Given the description of an element on the screen output the (x, y) to click on. 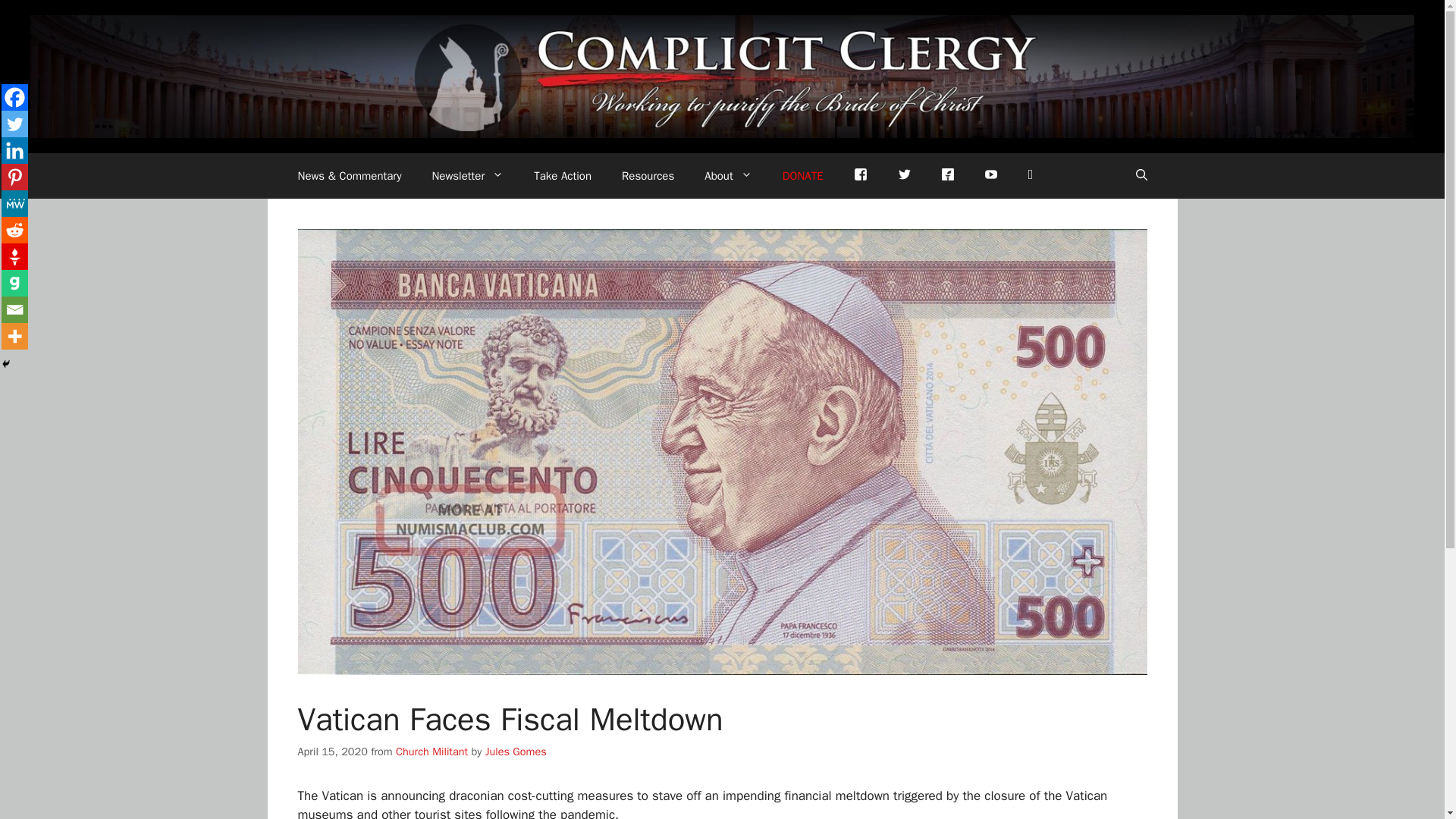
Resources (647, 176)
DONATE (802, 176)
Newsletter (467, 176)
Take Action (562, 176)
YouTube (991, 176)
Gettr (947, 173)
Linkedin (14, 150)
Twitter (904, 176)
Facebook (14, 97)
Church Militant (431, 751)
Twitter (14, 123)
Jules Gomes (515, 751)
About (727, 176)
Facebook (860, 176)
